Given the description of an element on the screen output the (x, y) to click on. 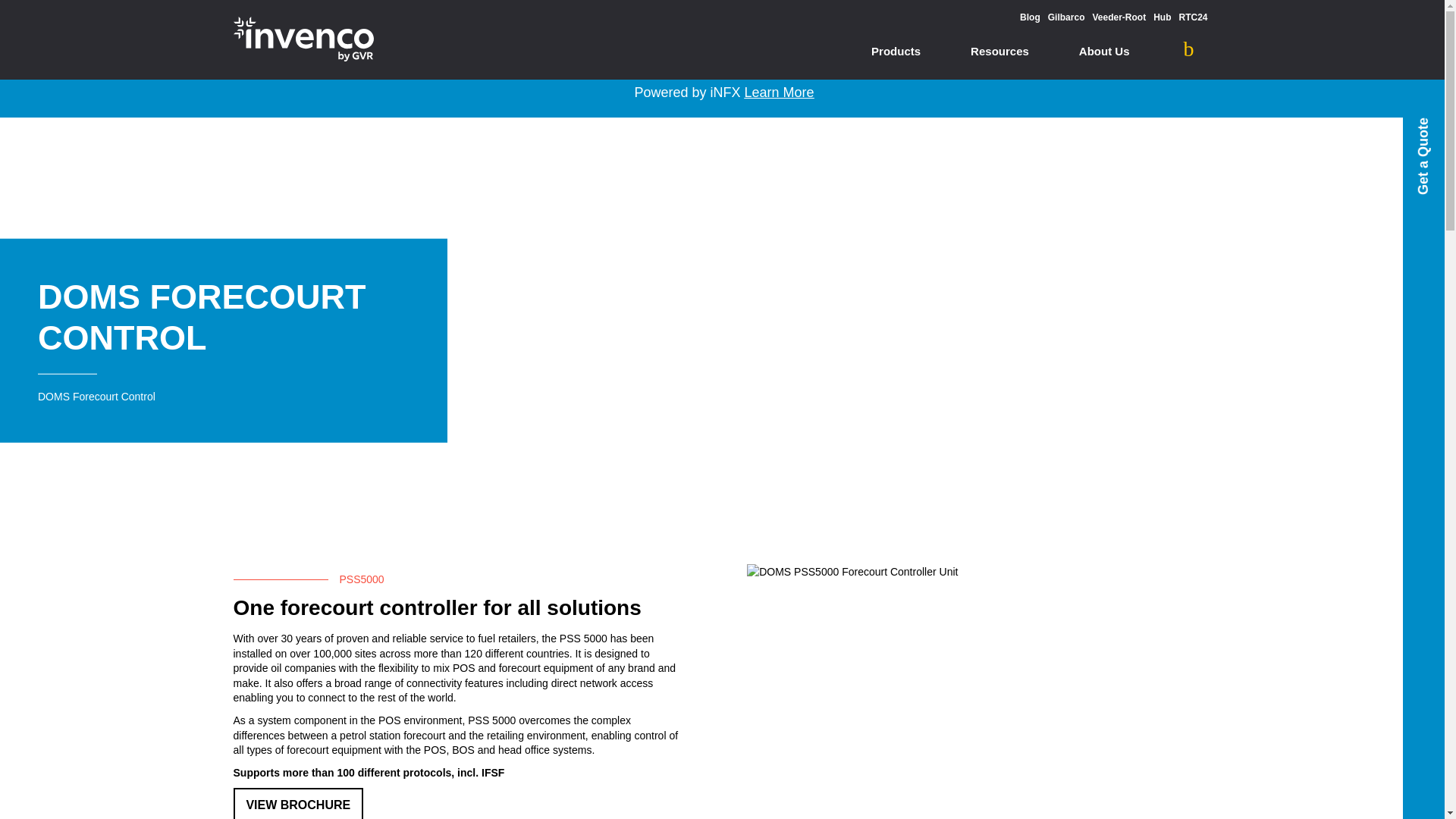
Hub (1161, 17)
Blog (1030, 17)
Home (303, 38)
Veeder-Root (1118, 17)
RTC24 (1192, 17)
Products (895, 52)
Gilbarco (1066, 17)
Resources (999, 52)
